Given the description of an element on the screen output the (x, y) to click on. 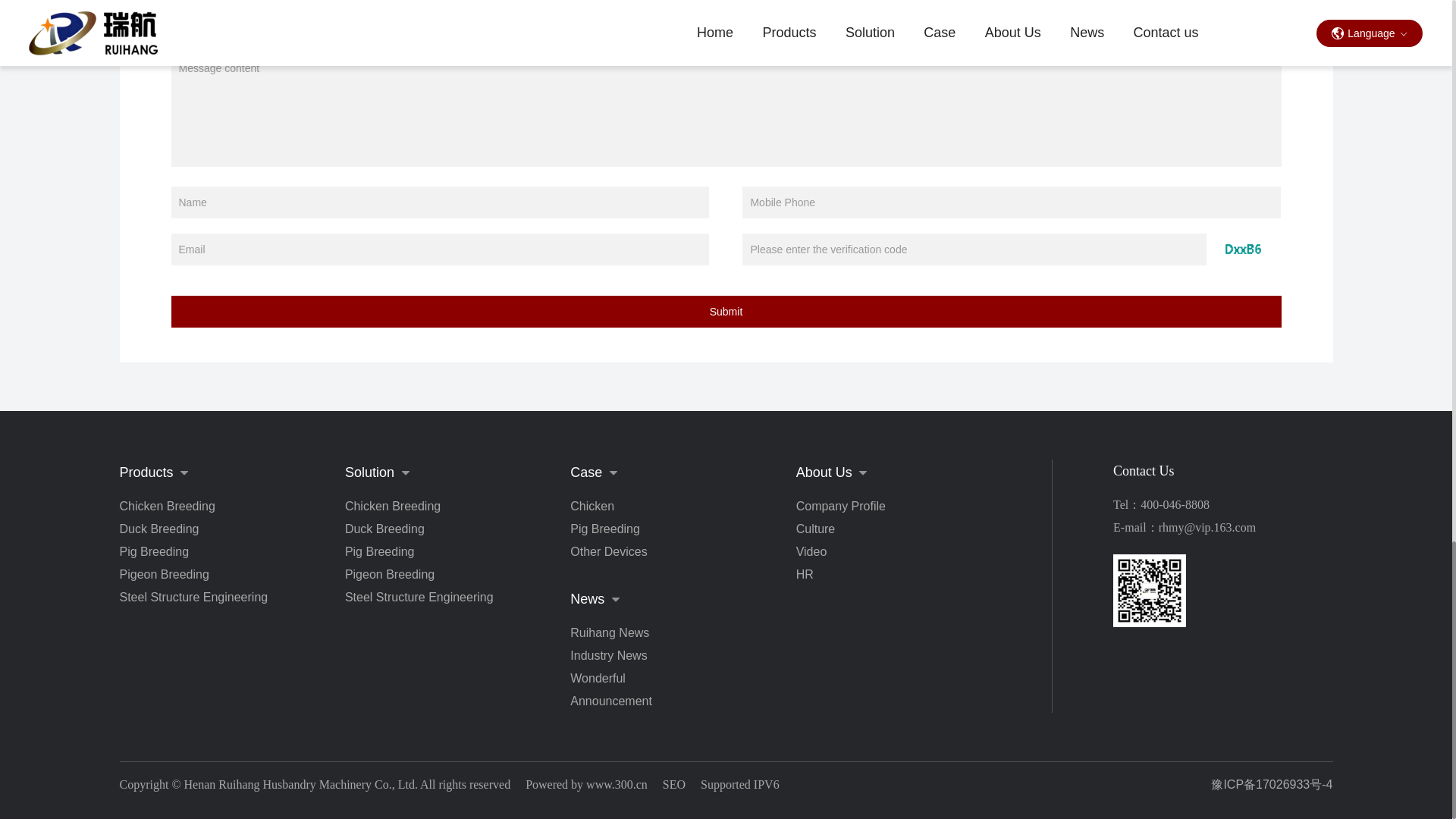
Ruihang (1149, 590)
